Given the description of an element on the screen output the (x, y) to click on. 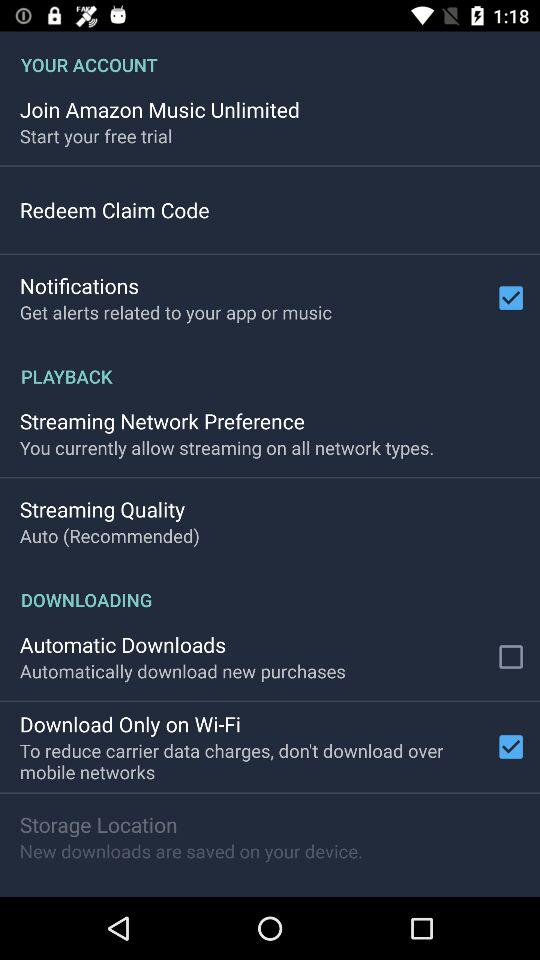
click the automatic downloads icon (122, 644)
